Given the description of an element on the screen output the (x, y) to click on. 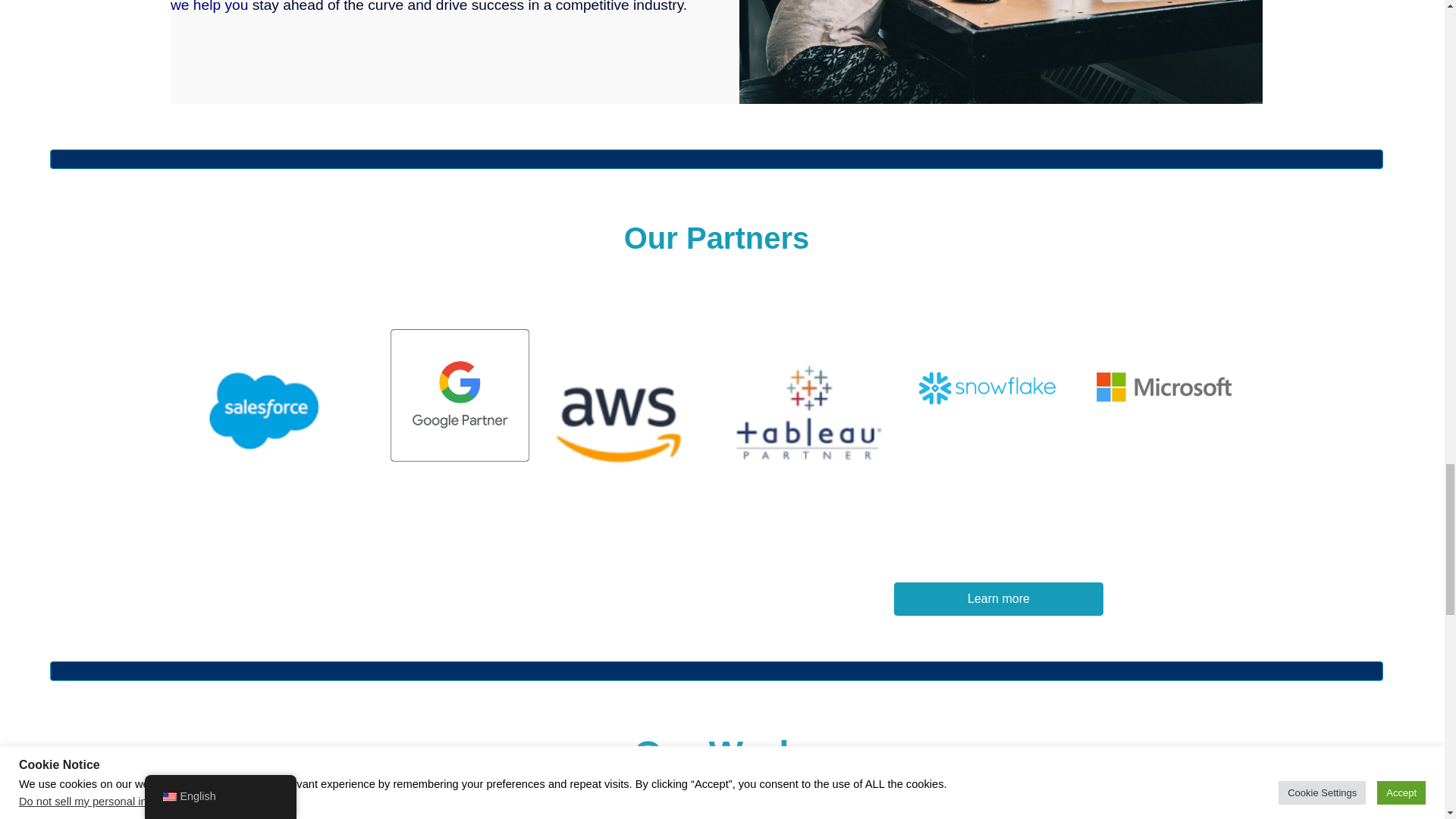
Our Partners (716, 241)
Learn more (998, 598)
Snowflake-1 (986, 388)
Microsoft-1 (1164, 388)
salesforce logo (294, 408)
qtq80-m1GpH7 (1000, 51)
AWS1-1 (624, 424)
TableauPartner-1 (809, 417)
Google-Partner-logo-badge (459, 395)
